Given the description of an element on the screen output the (x, y) to click on. 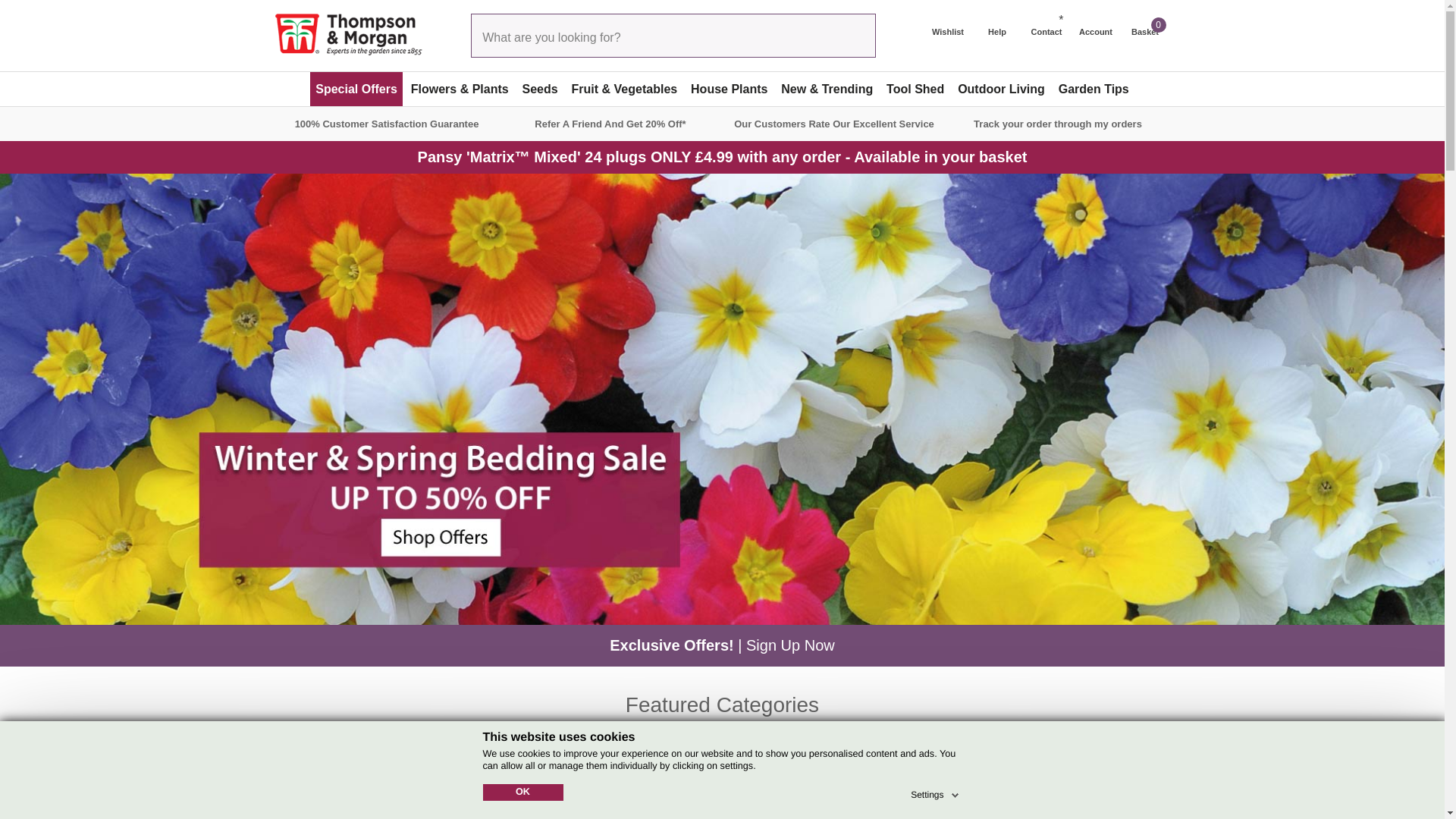
OK (521, 791)
Join (1083, 782)
Settings (935, 791)
